Given the description of an element on the screen output the (x, y) to click on. 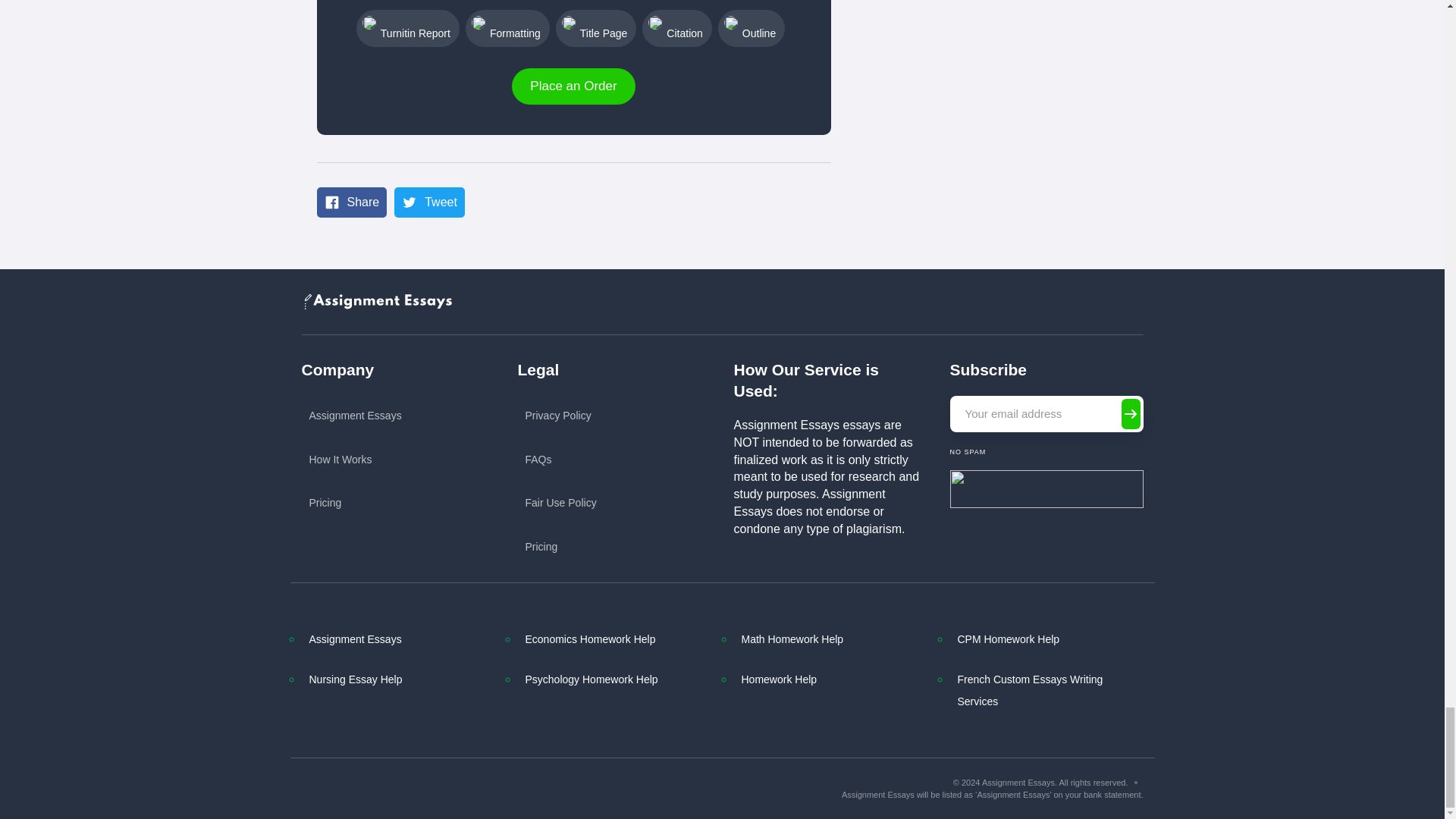
Privacy Policy (559, 415)
Fair Use Policy (559, 502)
How It Works (354, 459)
FAQs (559, 459)
Place an Order (573, 85)
Homework Help (830, 679)
Tweet (429, 202)
Math Homework Help (830, 639)
Nursing Essay Help (397, 679)
Psychology Homework Help (613, 679)
Assignment Essays (397, 639)
Share (352, 202)
Pricing (354, 502)
Economics Homework Help (613, 639)
Assignment Essays (354, 415)
